Given the description of an element on the screen output the (x, y) to click on. 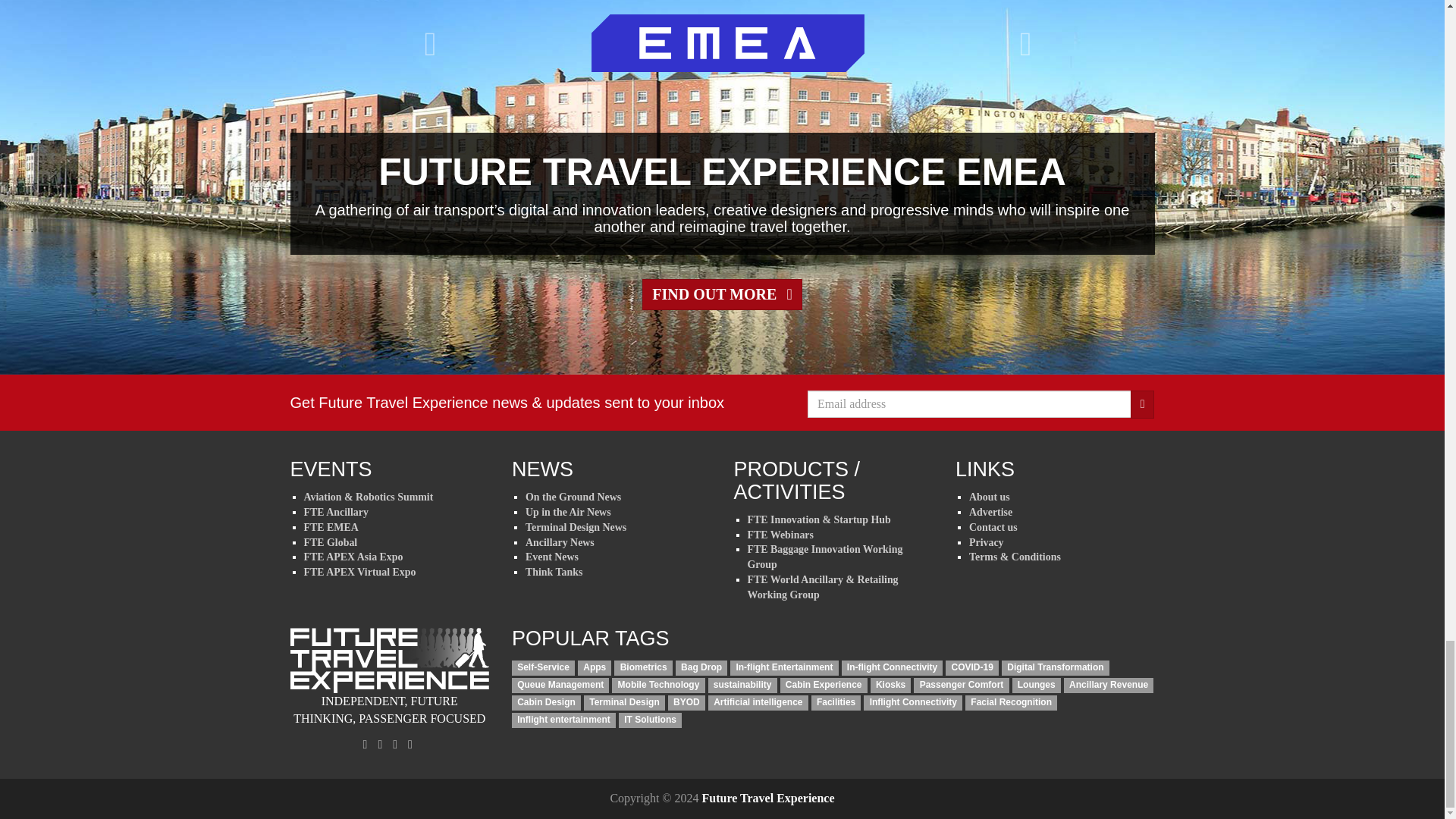
COVID-19 (971, 667)
Mobile Technology (657, 685)
In-flight Entertainment (784, 667)
In-flight Connectivity (892, 667)
Queue Management (560, 685)
Bag Drop (700, 667)
Biometrics (642, 667)
Self-Service (543, 667)
Digital Transformation (1055, 667)
Apps (594, 667)
